Given the description of an element on the screen output the (x, y) to click on. 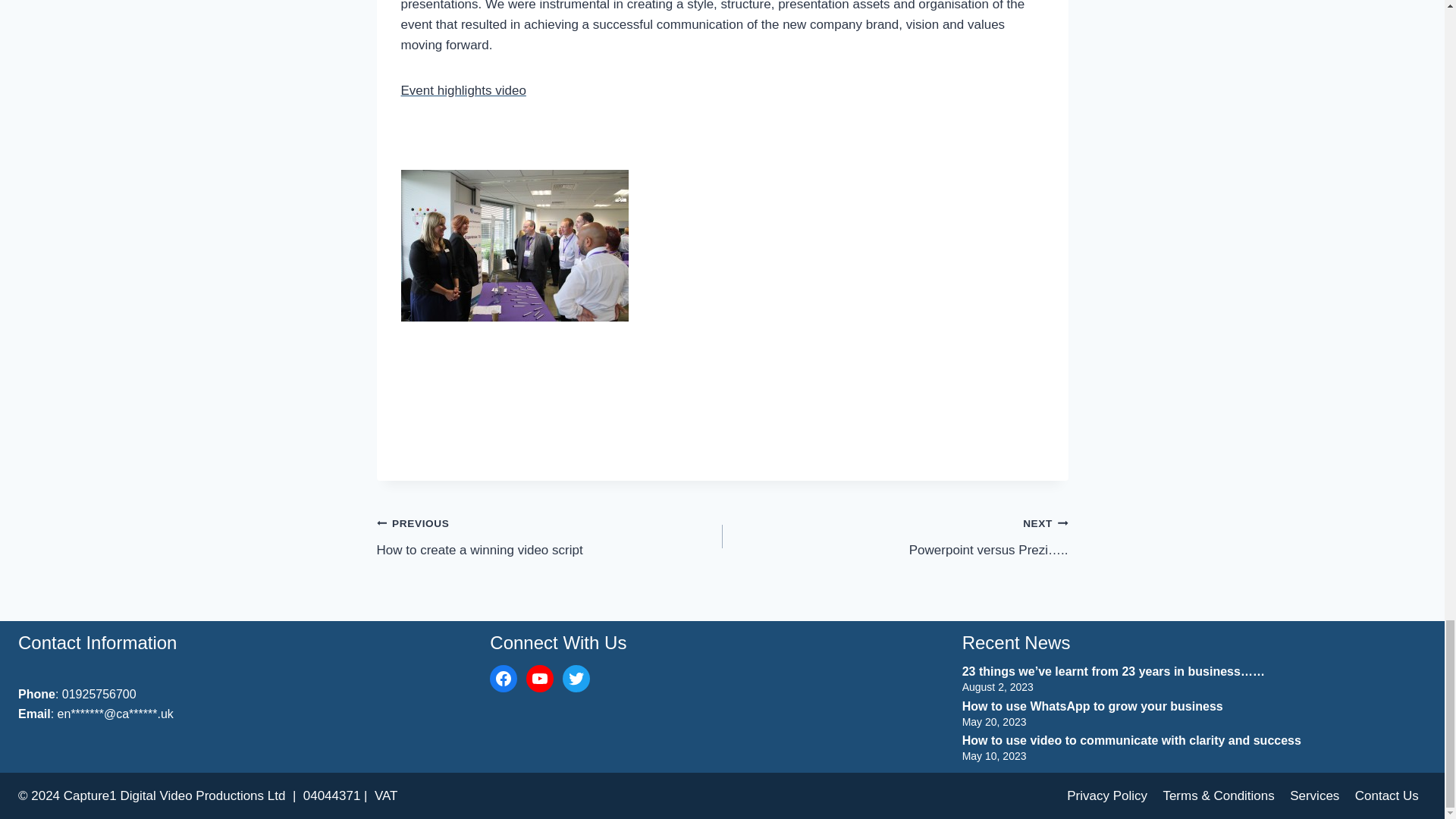
brand re-launch event company presentation (513, 245)
